Given the description of an element on the screen output the (x, y) to click on. 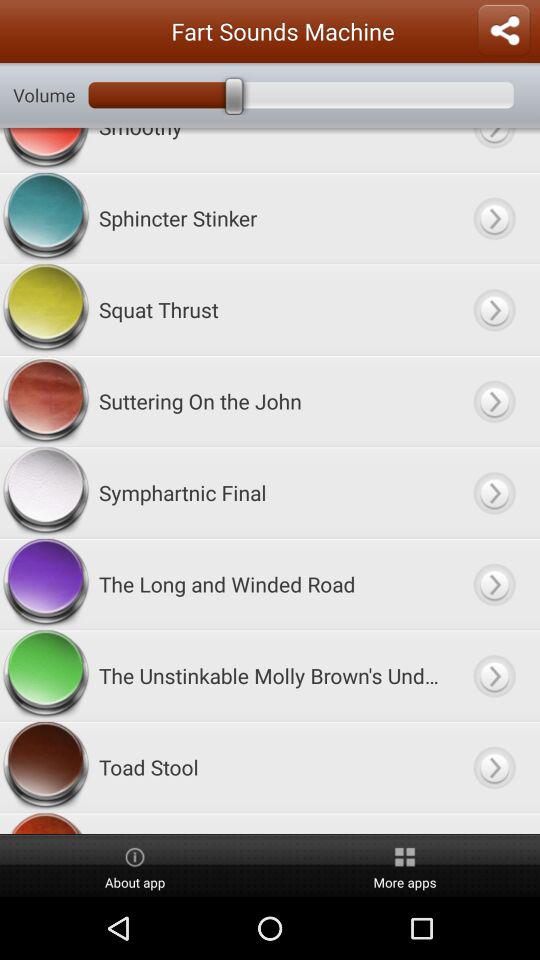
jump until the smoothy app (269, 149)
